Given the description of an element on the screen output the (x, y) to click on. 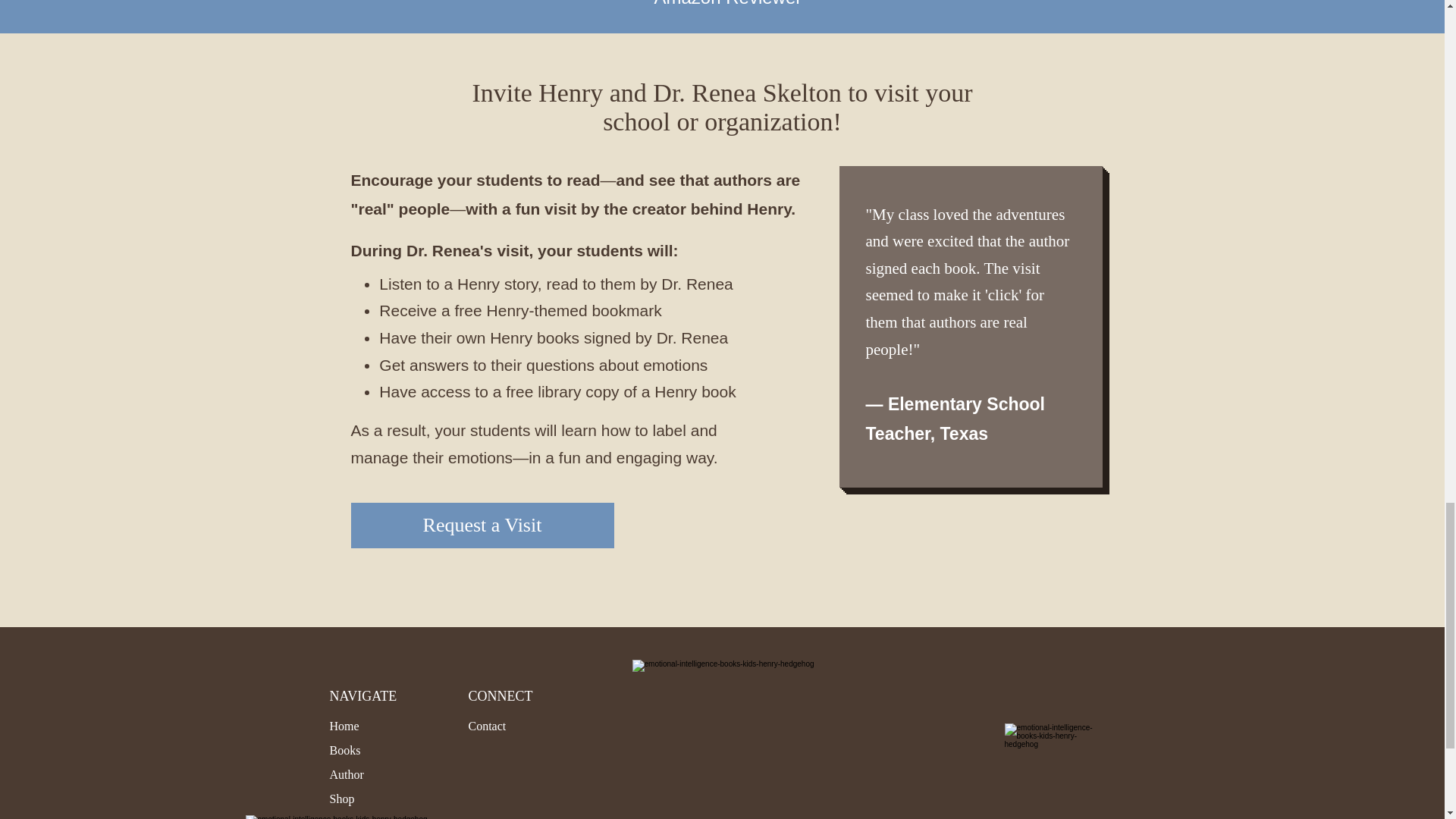
Books (344, 749)
Shop (341, 798)
Contact (487, 725)
Request a Visit (481, 524)
Home (343, 725)
Author (345, 774)
